Given the description of an element on the screen output the (x, y) to click on. 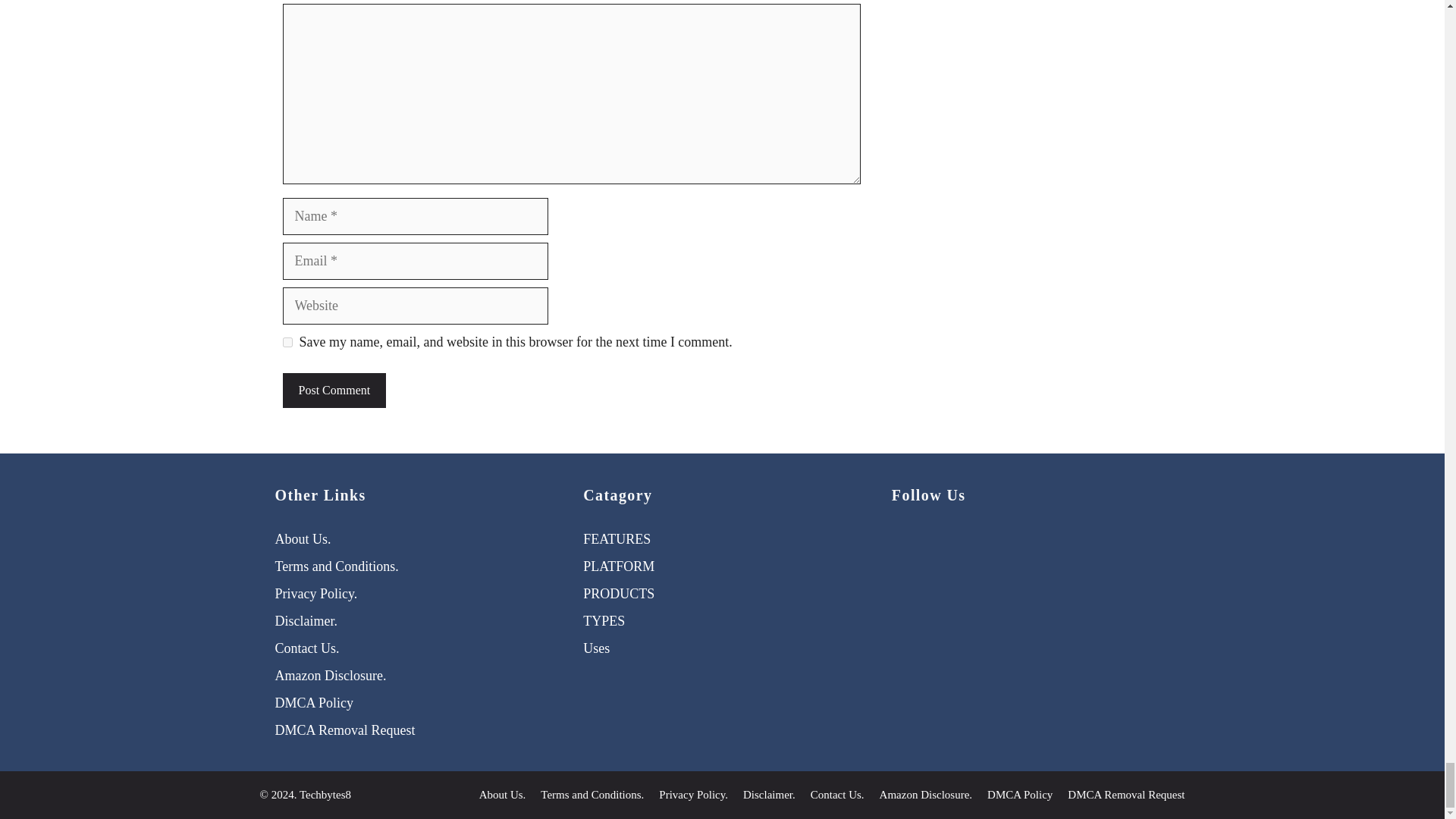
yes (287, 342)
Post Comment (333, 390)
